Given the description of an element on the screen output the (x, y) to click on. 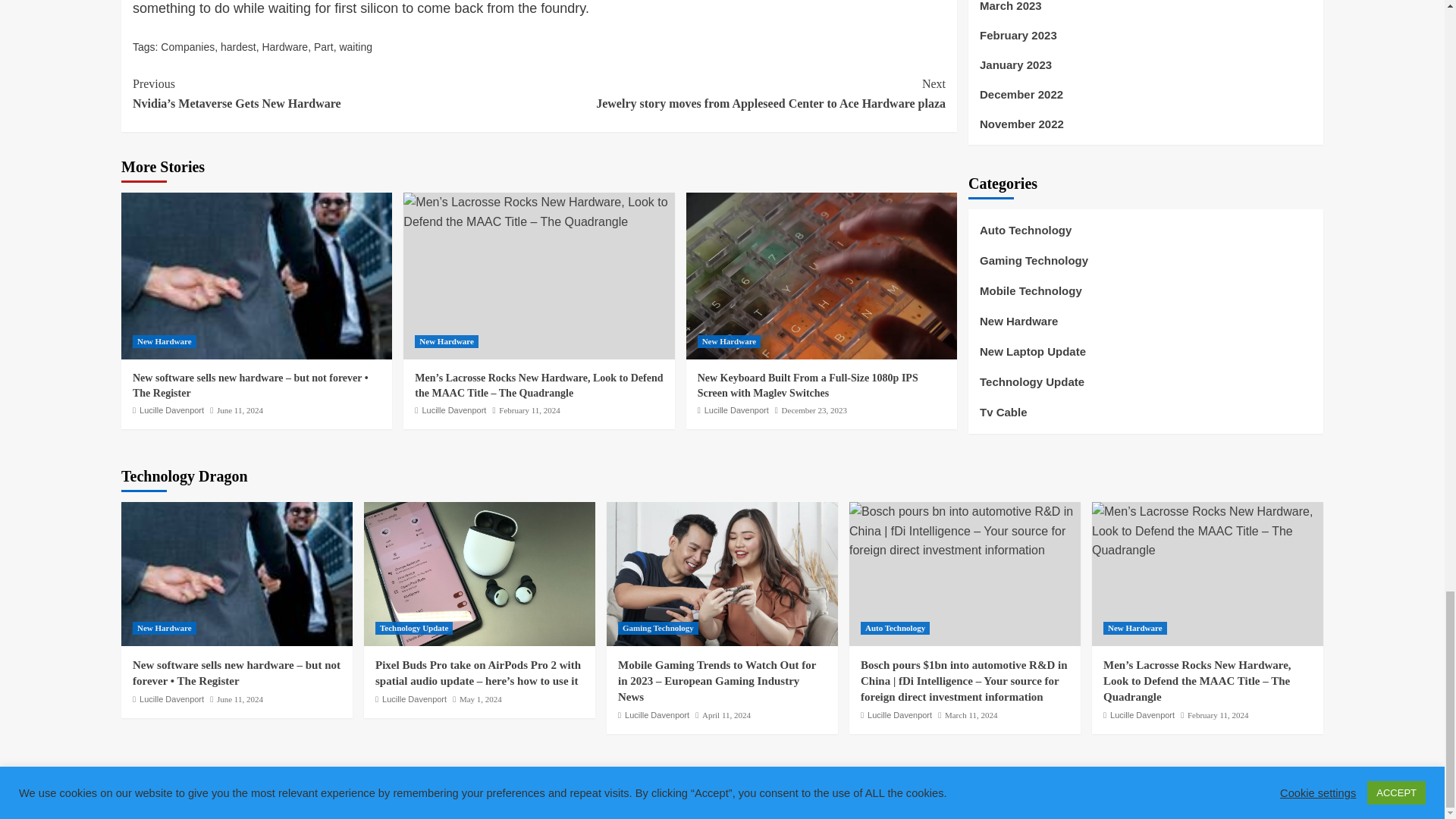
Lucille Davenport (171, 409)
Hardware (284, 46)
hardest (238, 46)
New Hardware (164, 341)
June 11, 2024 (239, 409)
New Hardware (446, 341)
waiting (355, 46)
Companies (187, 46)
Part (323, 46)
